Given the description of an element on the screen output the (x, y) to click on. 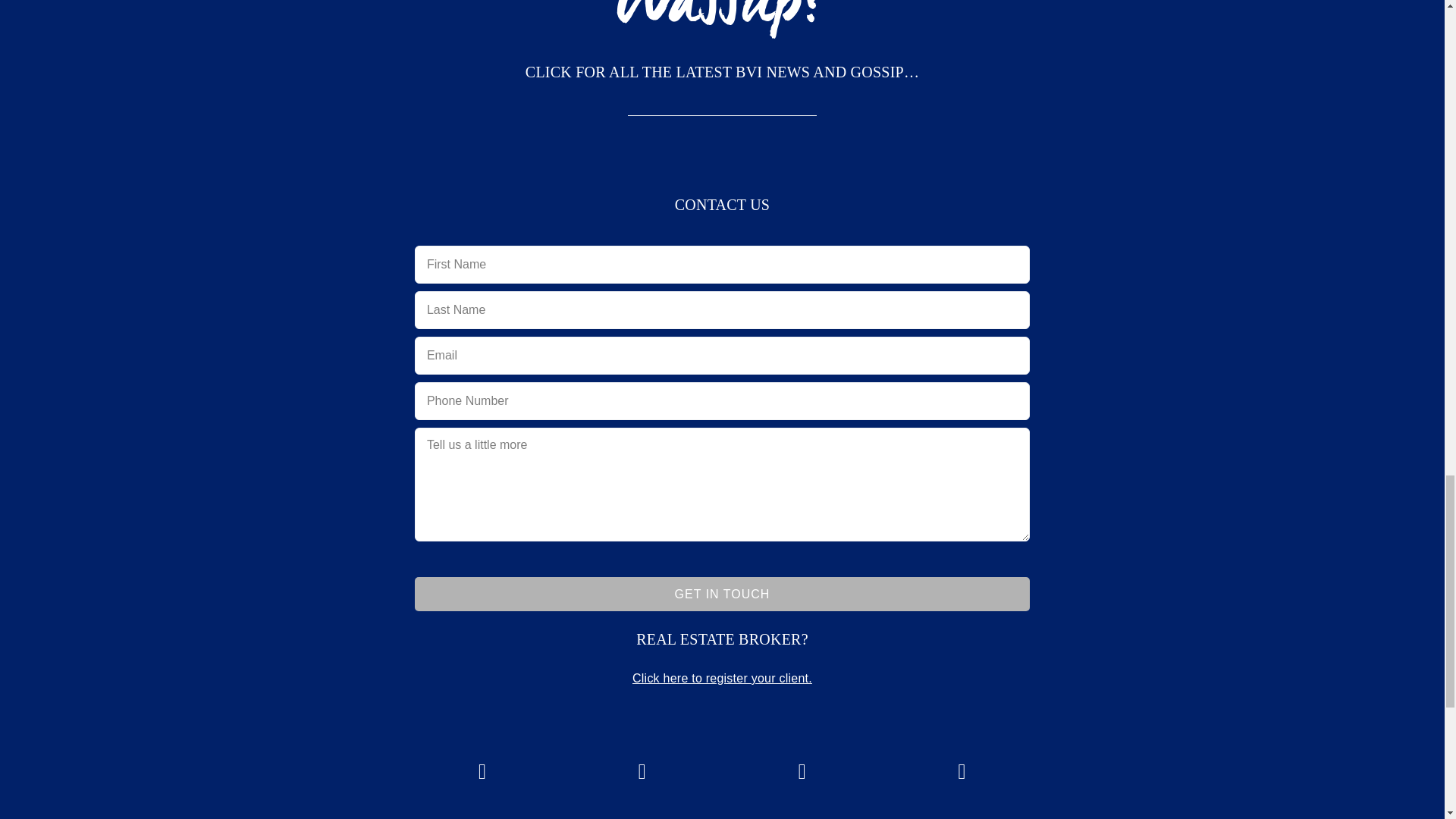
Page 1 (721, 71)
Page 1 (721, 638)
GET IN TOUCH (721, 593)
